Given the description of an element on the screen output the (x, y) to click on. 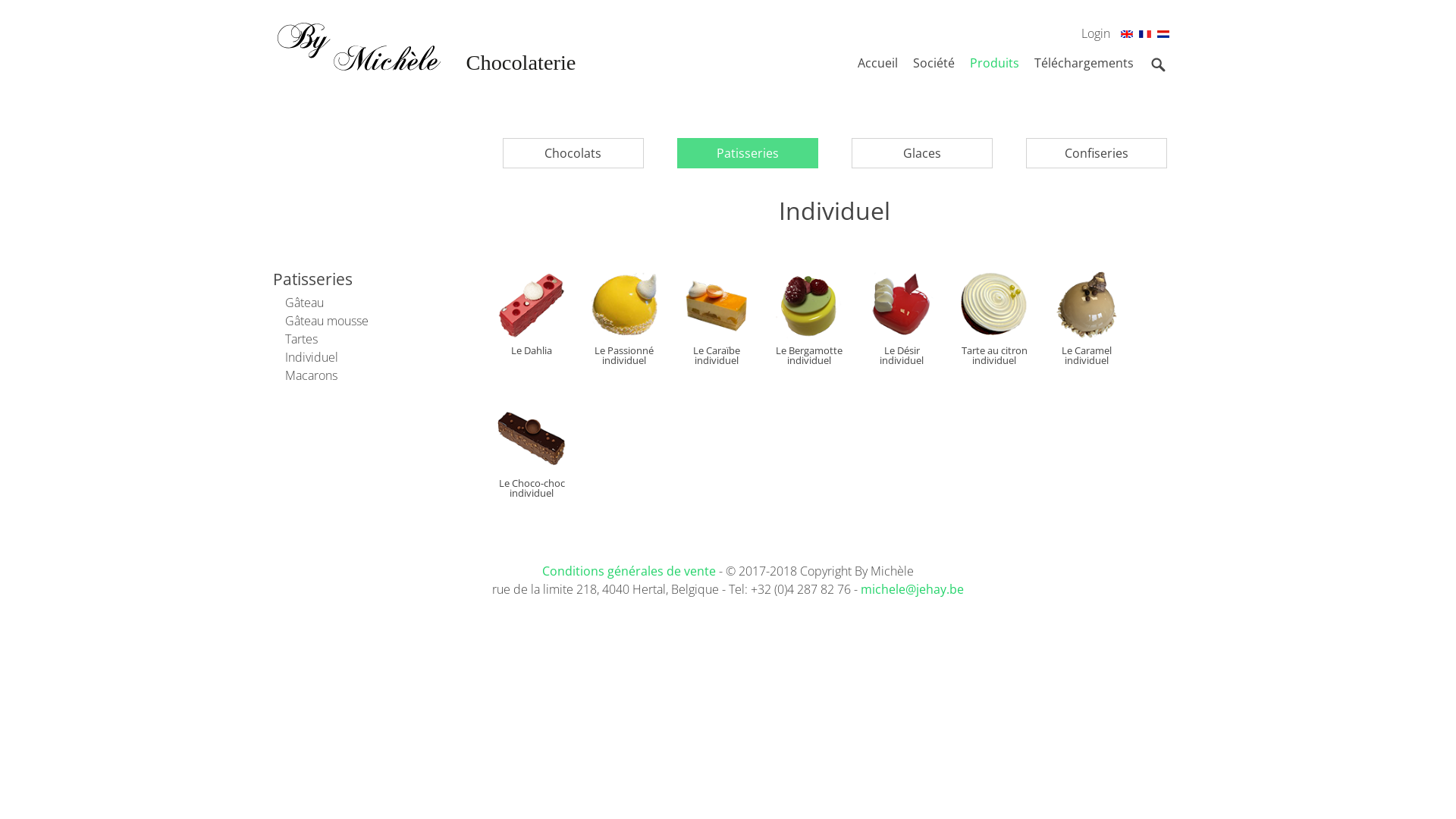
Tarte au citron individuel Element type: text (994, 318)
Accueil Element type: text (877, 62)
Le Caramel individuel Element type: text (1086, 318)
Produits Element type: text (994, 62)
Macarons Element type: text (305, 375)
Confiseries Element type: text (1096, 153)
Le Dahlia Element type: text (531, 313)
Glaces Element type: text (921, 153)
En Element type: text (1126, 36)
Tartes Element type: text (295, 338)
michele@jehay.be Element type: text (911, 588)
  Element type: text (1149, 125)
Chocolats Element type: text (572, 153)
Le Choco-choc individuel Element type: text (531, 451)
Individuel Element type: text (305, 356)
Patisseries Element type: text (747, 153)
Login Element type: text (1095, 33)
Le Bergamotte individuel Element type: text (809, 318)
Nl Element type: text (1163, 36)
Fr Element type: text (1145, 36)
